Given the description of an element on the screen output the (x, y) to click on. 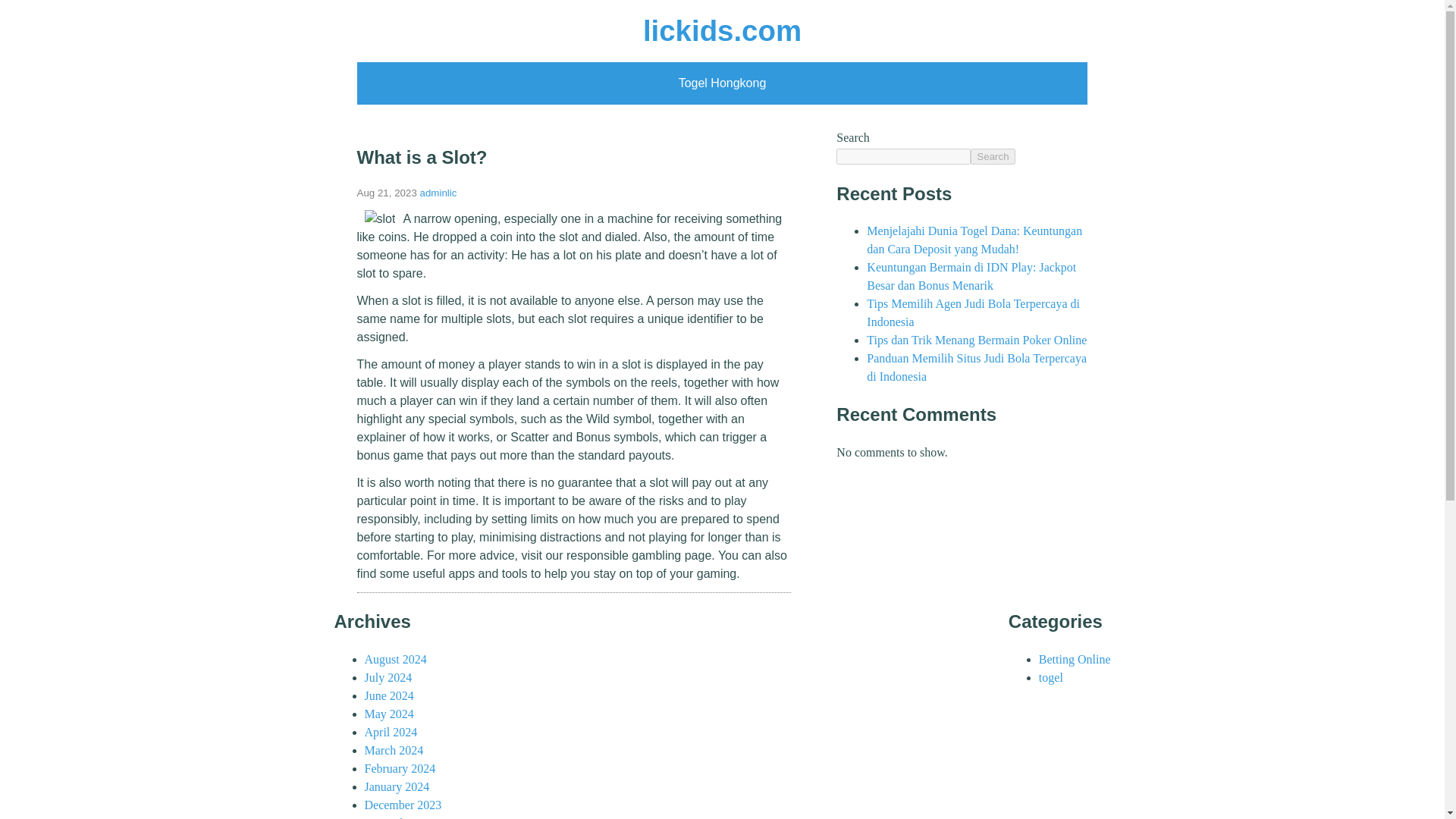
Tips dan Trik Menang Bermain Poker Online (976, 339)
January 2024 (396, 786)
Tips Memilih Agen Judi Bola Terpercaya di Indonesia (973, 312)
June 2024 (388, 695)
Panduan Memilih Situs Judi Bola Terpercaya di Indonesia (976, 367)
December 2023 (402, 804)
lickids.com (722, 30)
November 2023 (403, 817)
July 2024 (388, 676)
